Given the description of an element on the screen output the (x, y) to click on. 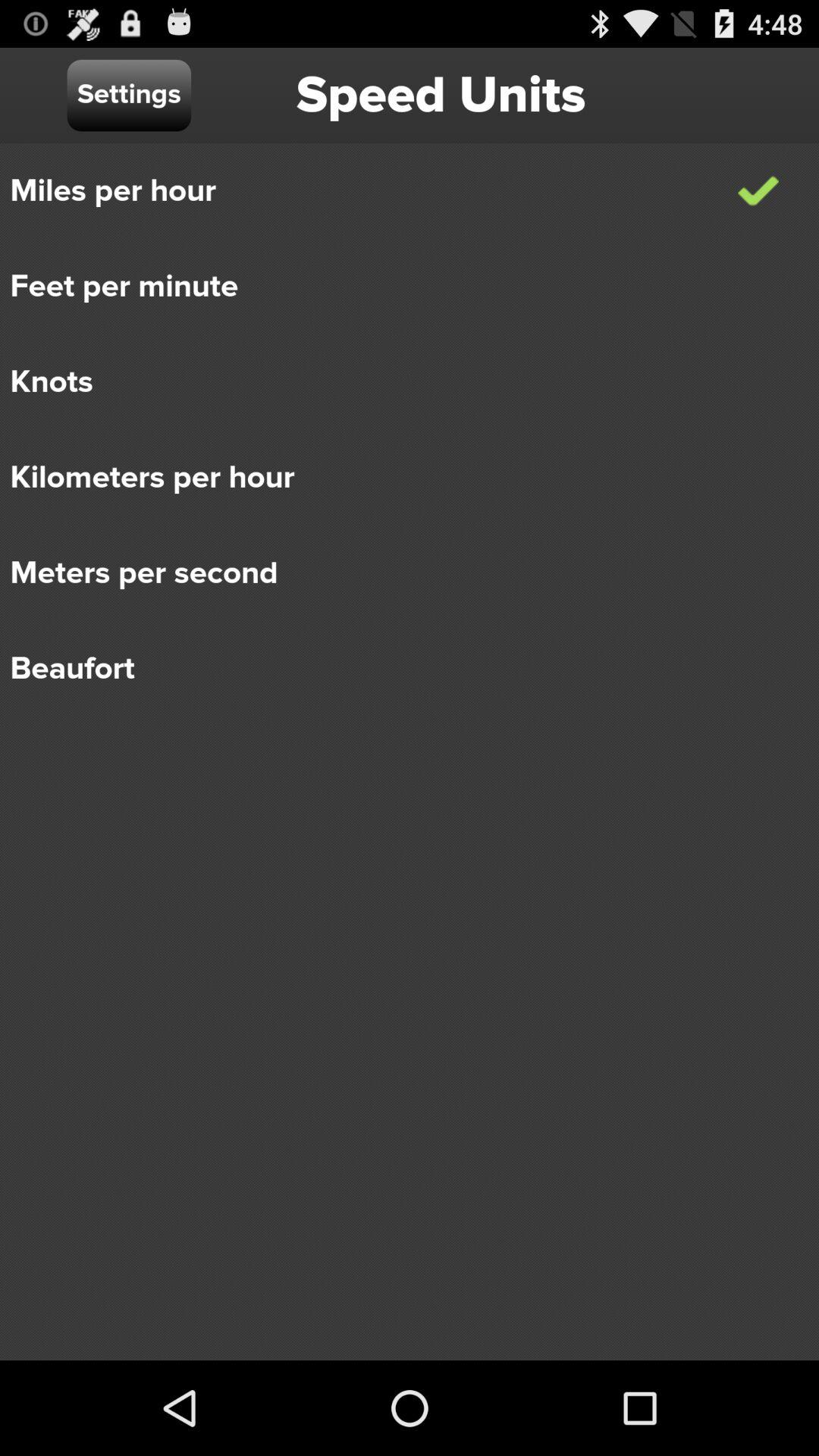
swipe to the settings icon (129, 95)
